Given the description of an element on the screen output the (x, y) to click on. 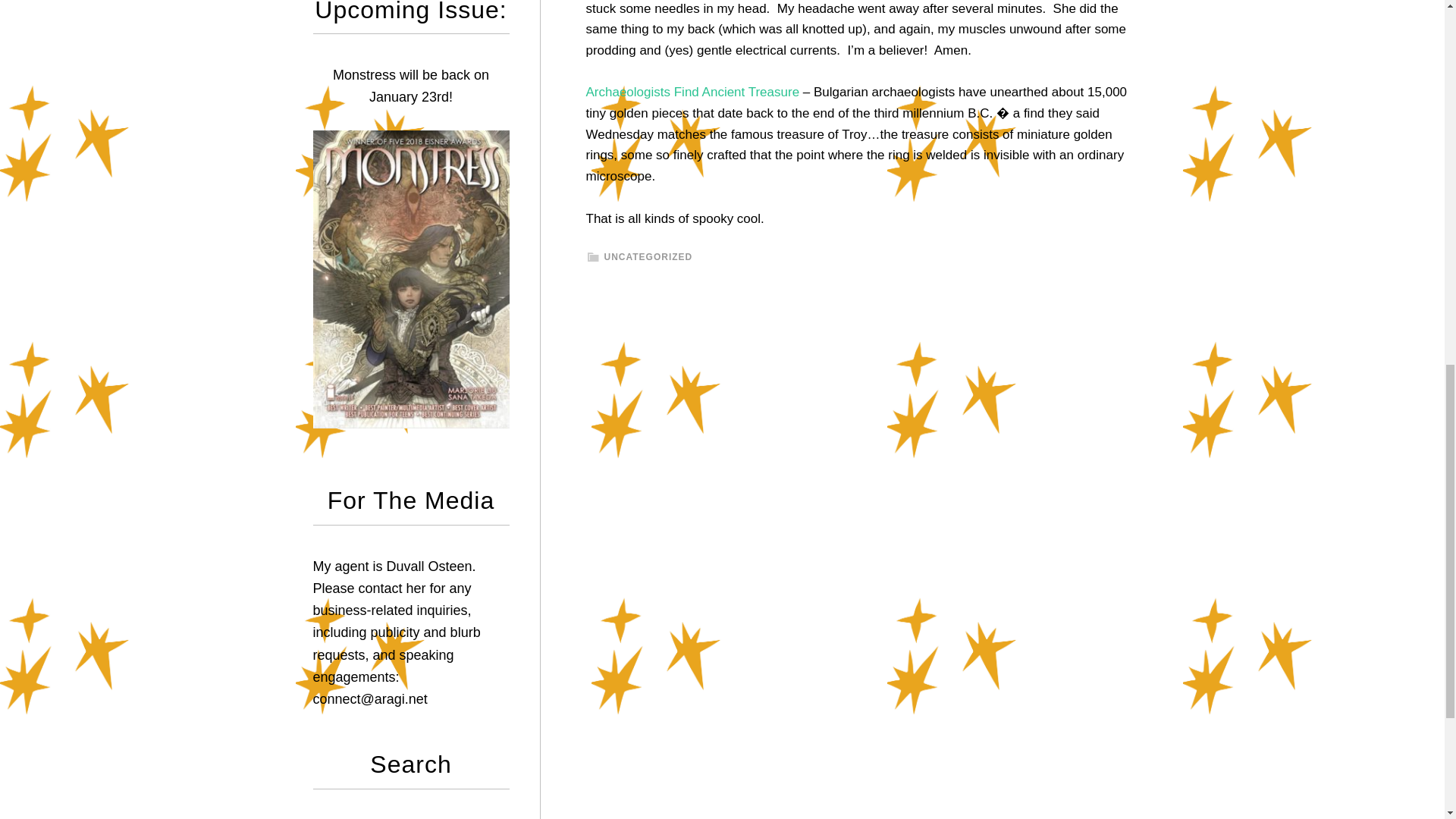
UNCATEGORIZED (648, 256)
Archaeologists Find Ancient Treasure (692, 92)
